Given the description of an element on the screen output the (x, y) to click on. 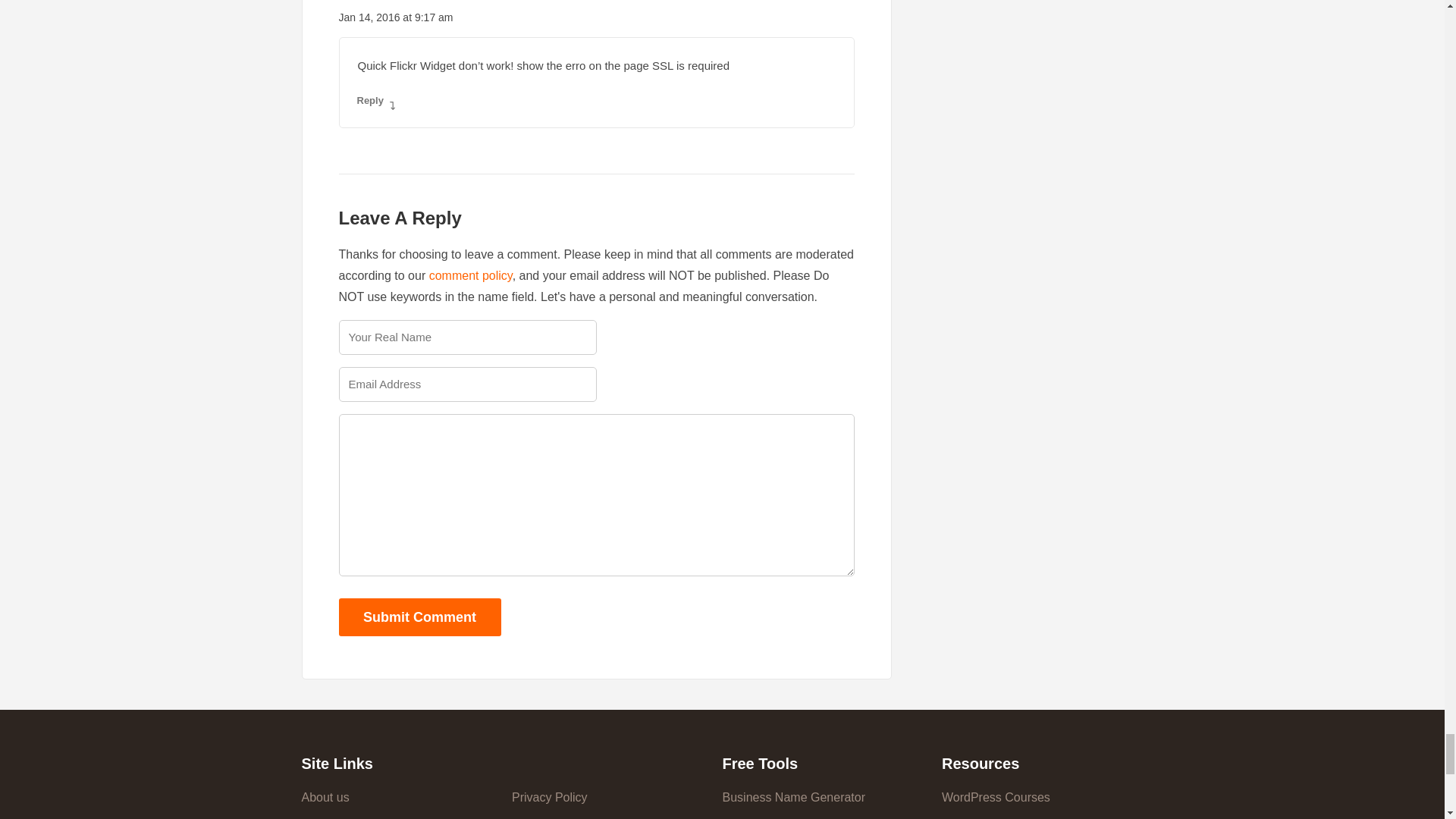
Submit Comment (418, 617)
